Given the description of an element on the screen output the (x, y) to click on. 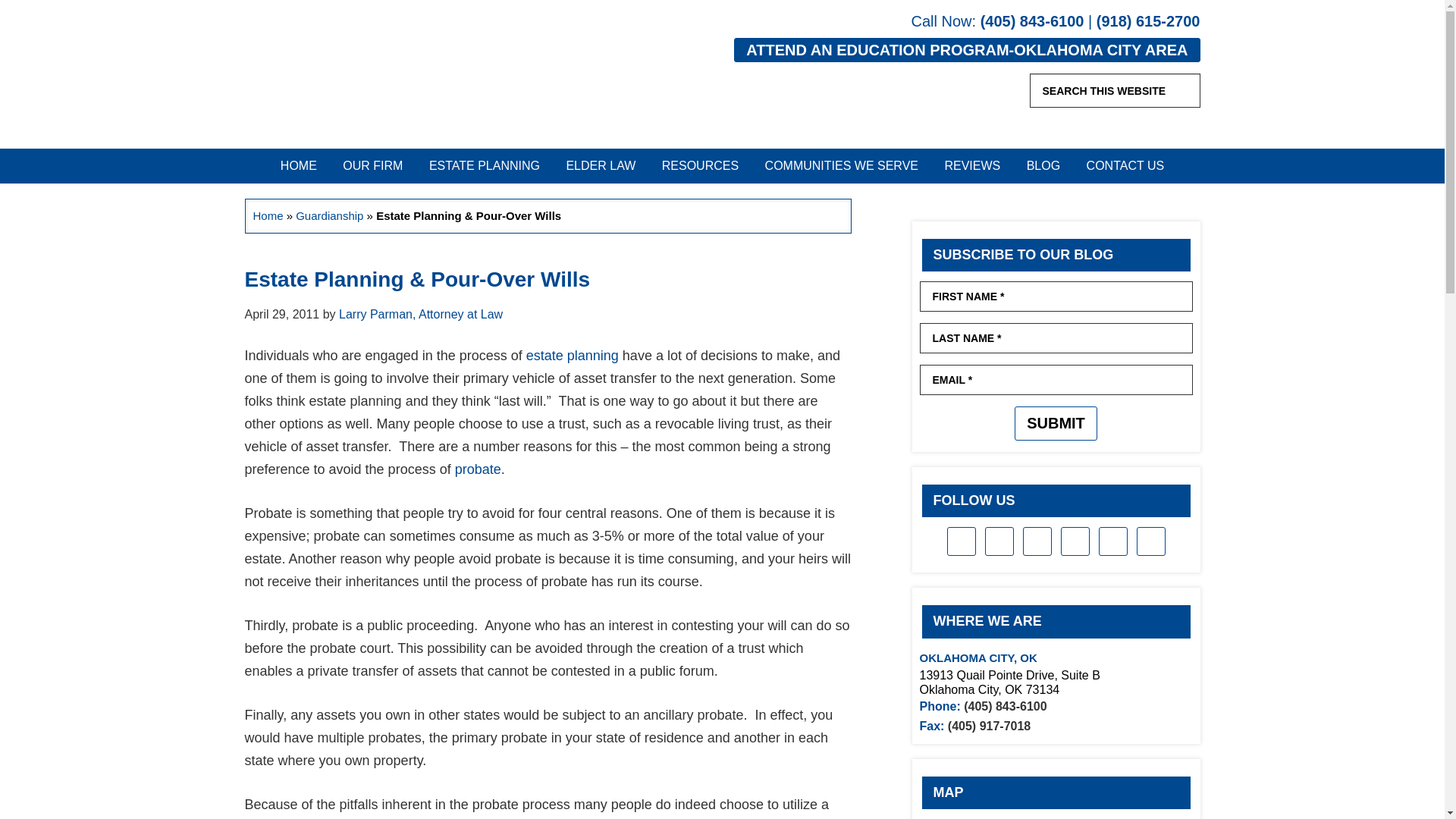
ELDER LAW (600, 165)
Search (1184, 90)
HOME (299, 165)
Search (1184, 90)
ATTEND AN EDUCATION PROGRAM-OKLAHOMA CITY AREA (966, 49)
Search (1184, 90)
OUR FIRM (372, 165)
ESTATE PLANNING (484, 165)
